Given the description of an element on the screen output the (x, y) to click on. 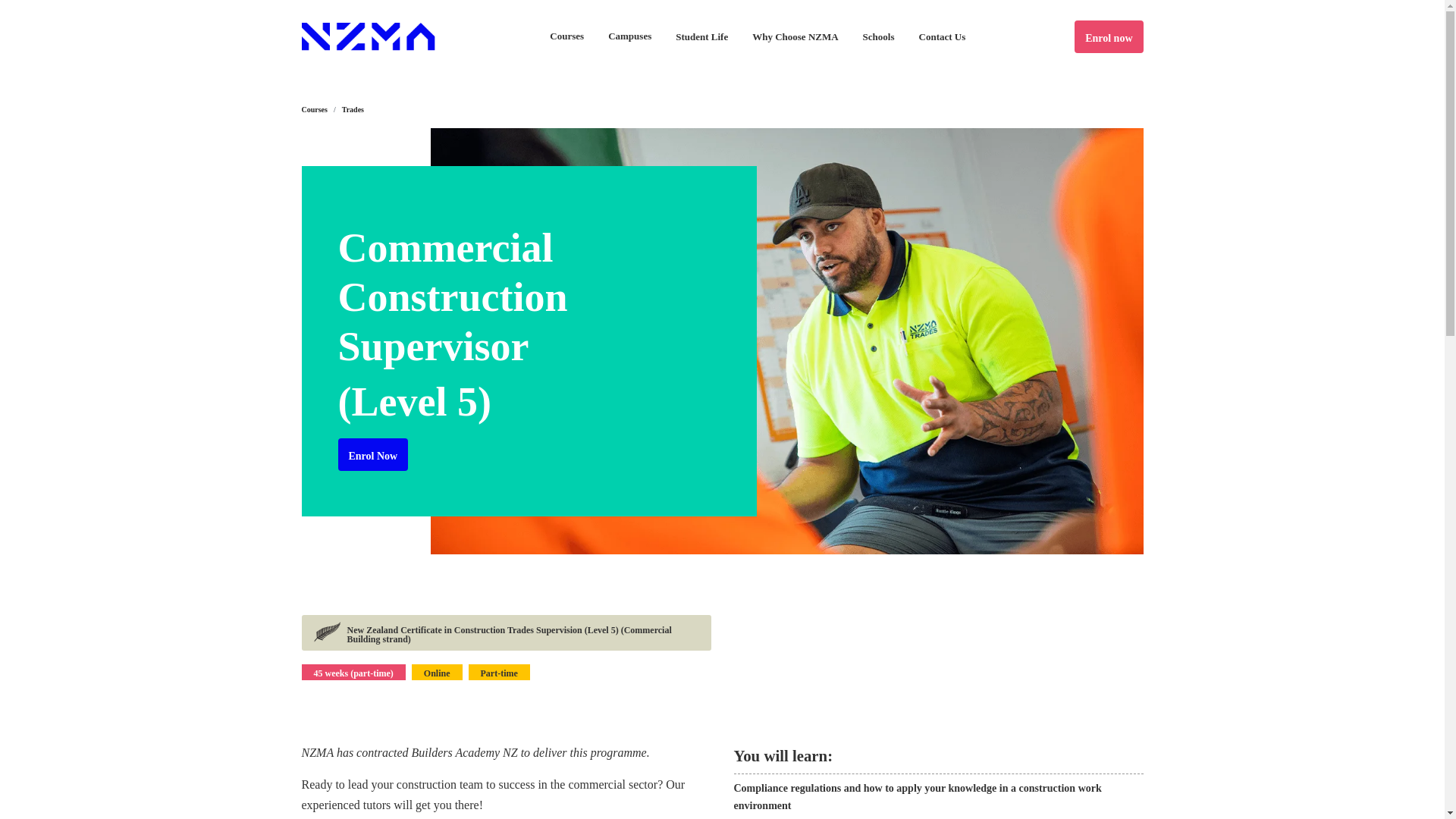
Campuses (629, 36)
Courses (566, 36)
Why Choose NZMA (794, 34)
Student Life (701, 36)
